Given the description of an element on the screen output the (x, y) to click on. 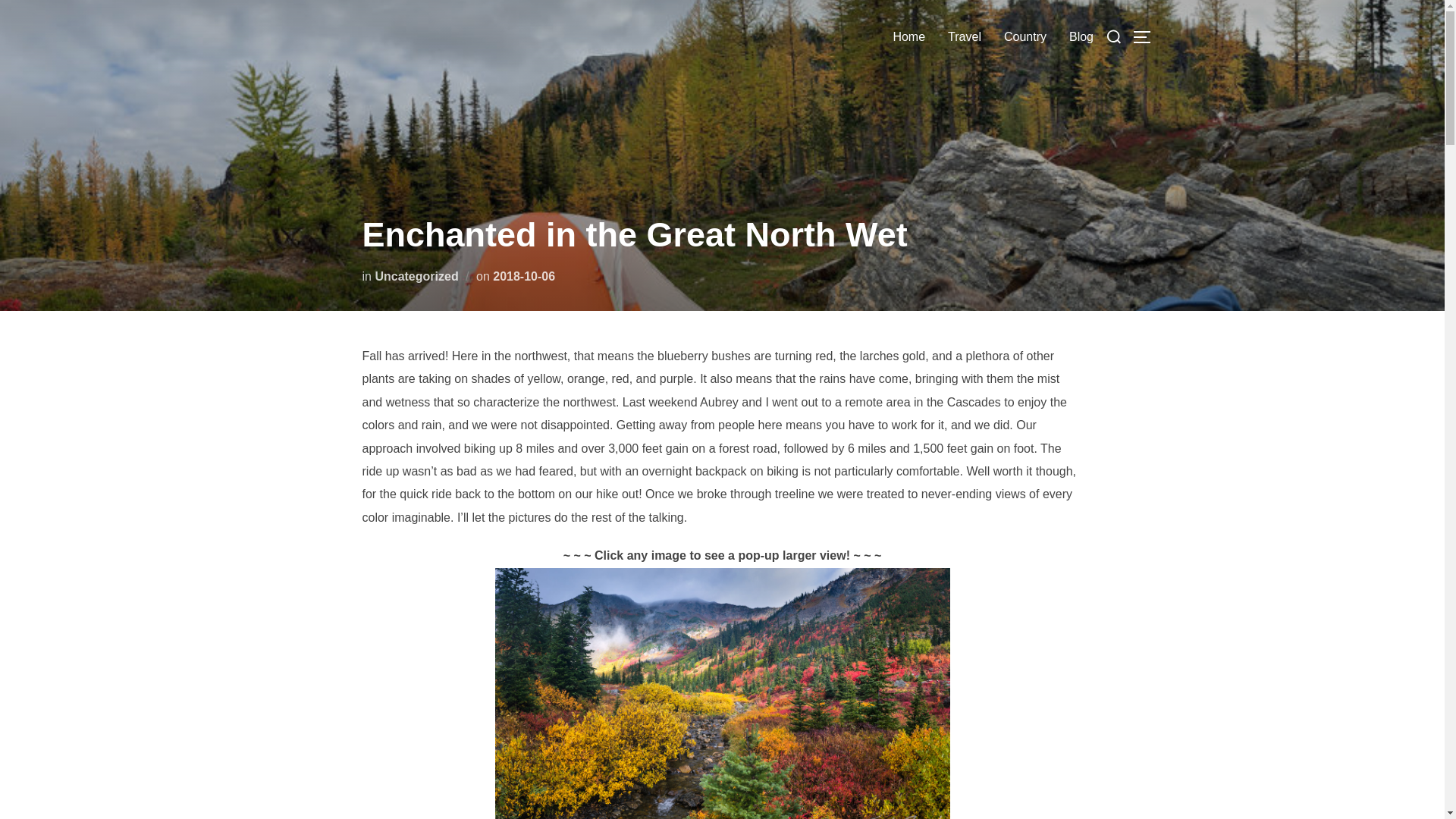
Uncategorized (416, 276)
2018-10-06 (523, 276)
Travel (964, 36)
Home (908, 36)
